Given the description of an element on the screen output the (x, y) to click on. 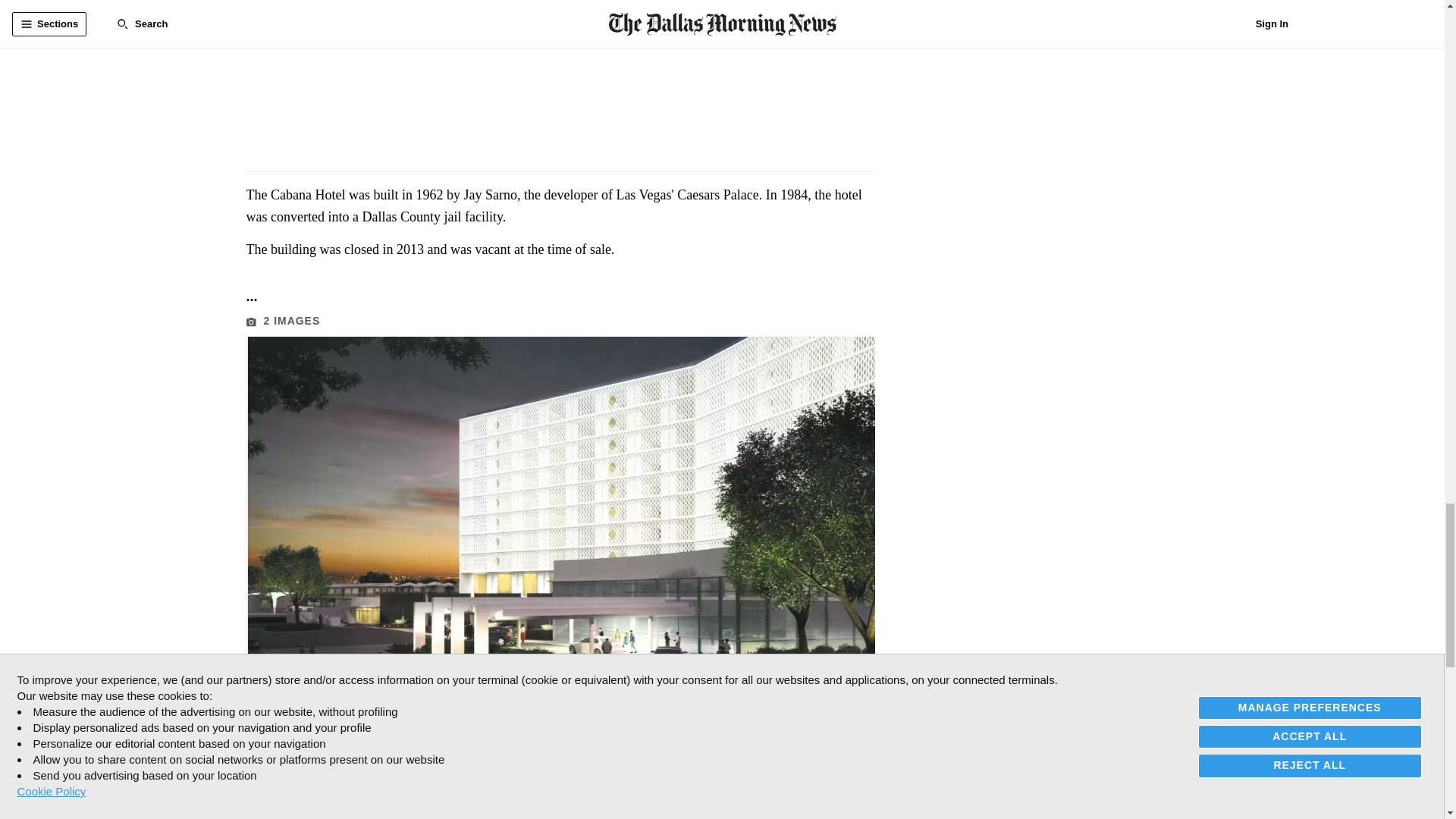
Print (353, 813)
Share on Twitter (290, 813)
Share via Email (321, 813)
Share on Facebook (258, 813)
